Given the description of an element on the screen output the (x, y) to click on. 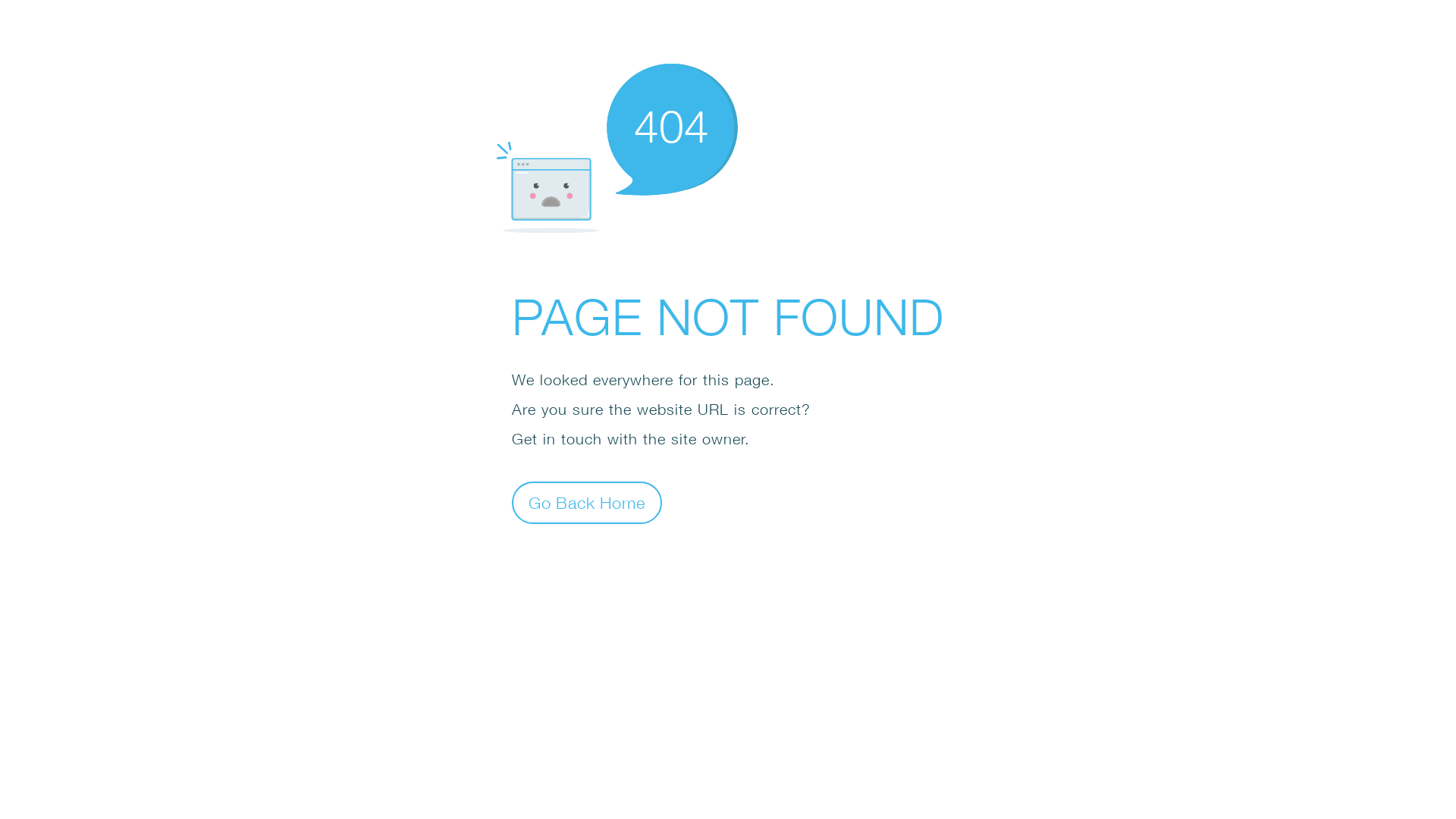
Go Back Home Element type: text (586, 502)
